Given the description of an element on the screen output the (x, y) to click on. 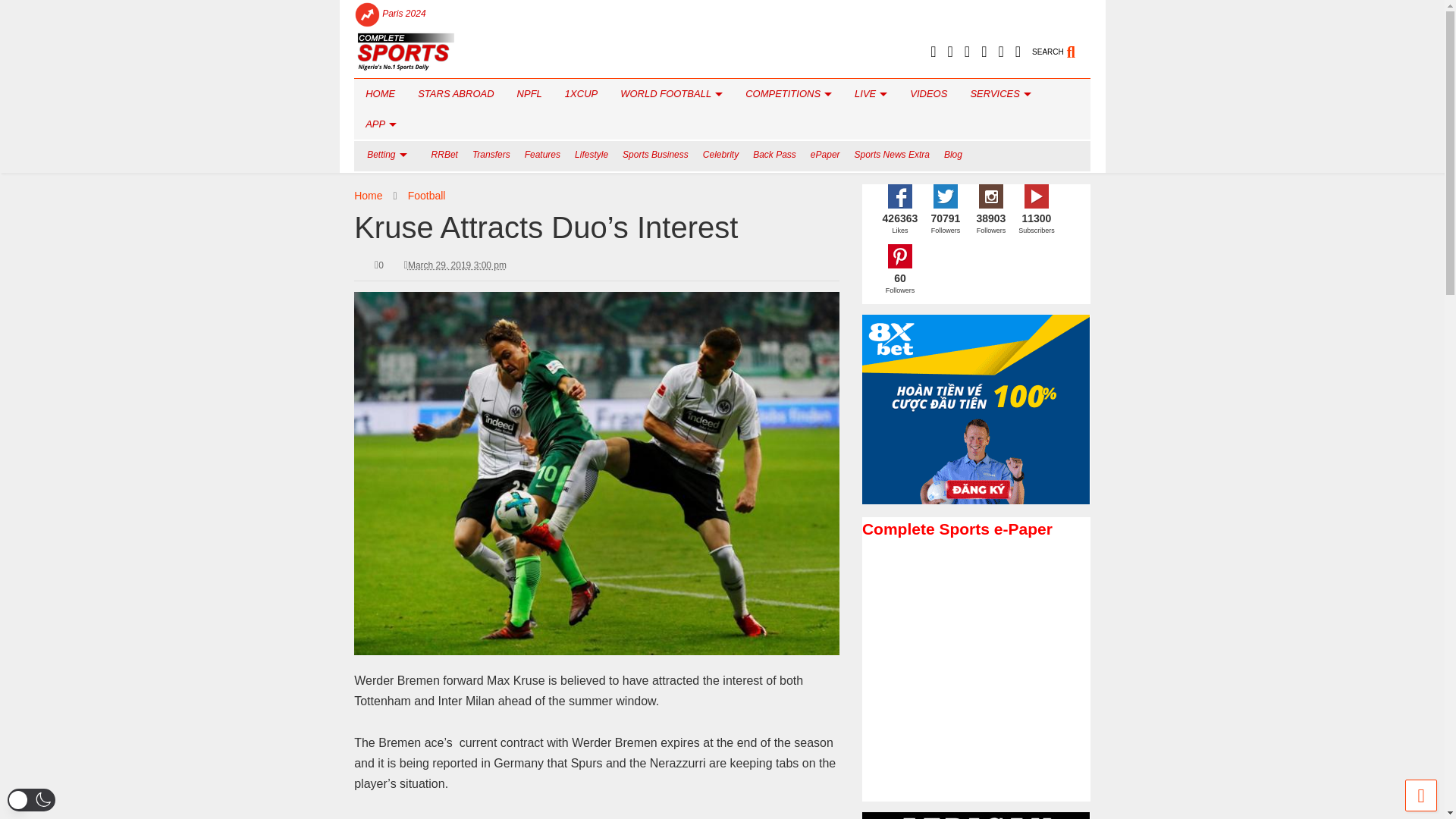
NPFL (529, 93)
HOME (379, 93)
LIVE (870, 93)
SERVICES (1000, 93)
SEARCH (1061, 45)
Paris 2024 (403, 13)
March 29, 2019 3:02 pm (456, 265)
COMPETITIONS (788, 93)
STARS ABROAD (455, 93)
Complete Sports (405, 65)
